Given the description of an element on the screen output the (x, y) to click on. 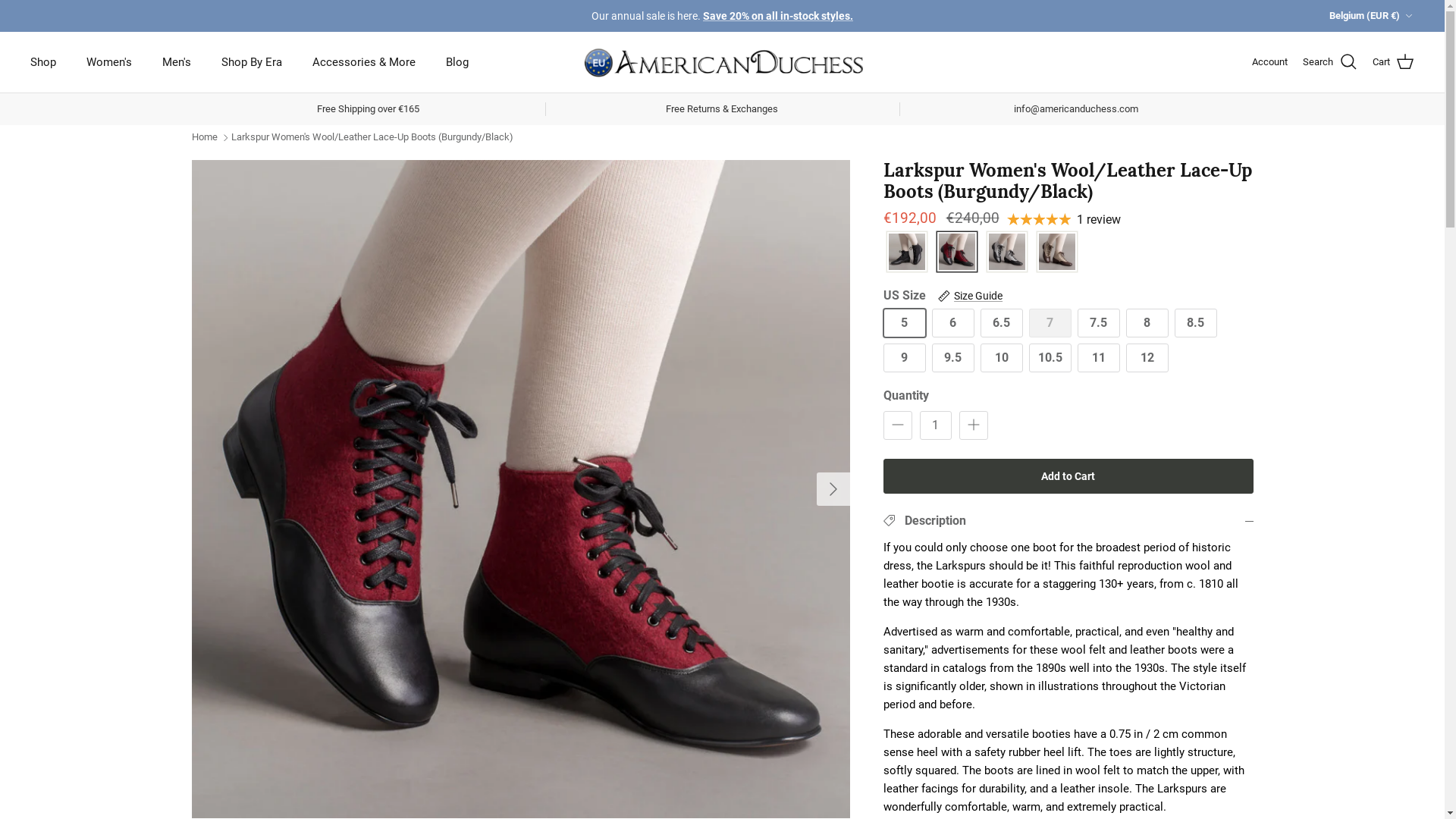
Larkspur Women's Wool/Leather Lace-Up Boots (Burgundy/Black) Element type: text (372, 136)
Search Element type: text (1329, 62)
Burgundy/Black Element type: hover (955, 252)
Accessories & More Element type: text (363, 62)
American Duchess - Europe Element type: hover (722, 62)
Tan/Brown Element type: hover (1055, 252)
Size Guide Element type: text (969, 295)
Women's Element type: text (108, 62)
Plus Element type: text (972, 425)
Shop By Era Element type: text (251, 62)
Account Element type: text (1269, 62)
Home Element type: text (203, 136)
Add to Cart Element type: text (1067, 475)
Men's Element type: text (176, 62)
Black/Black Element type: hover (905, 252)
Grey/Black Element type: hover (1005, 252)
Minus Element type: text (896, 425)
1 review Element type: text (1063, 219)
Right Element type: text (832, 488)
Free Returns & Exchanges Element type: text (722, 109)
Blog Element type: text (457, 62)
Shop Element type: text (42, 62)
Cart Element type: text (1393, 62)
Save 20% on all in-stock styles. Element type: text (777, 15)
